Given the description of an element on the screen output the (x, y) to click on. 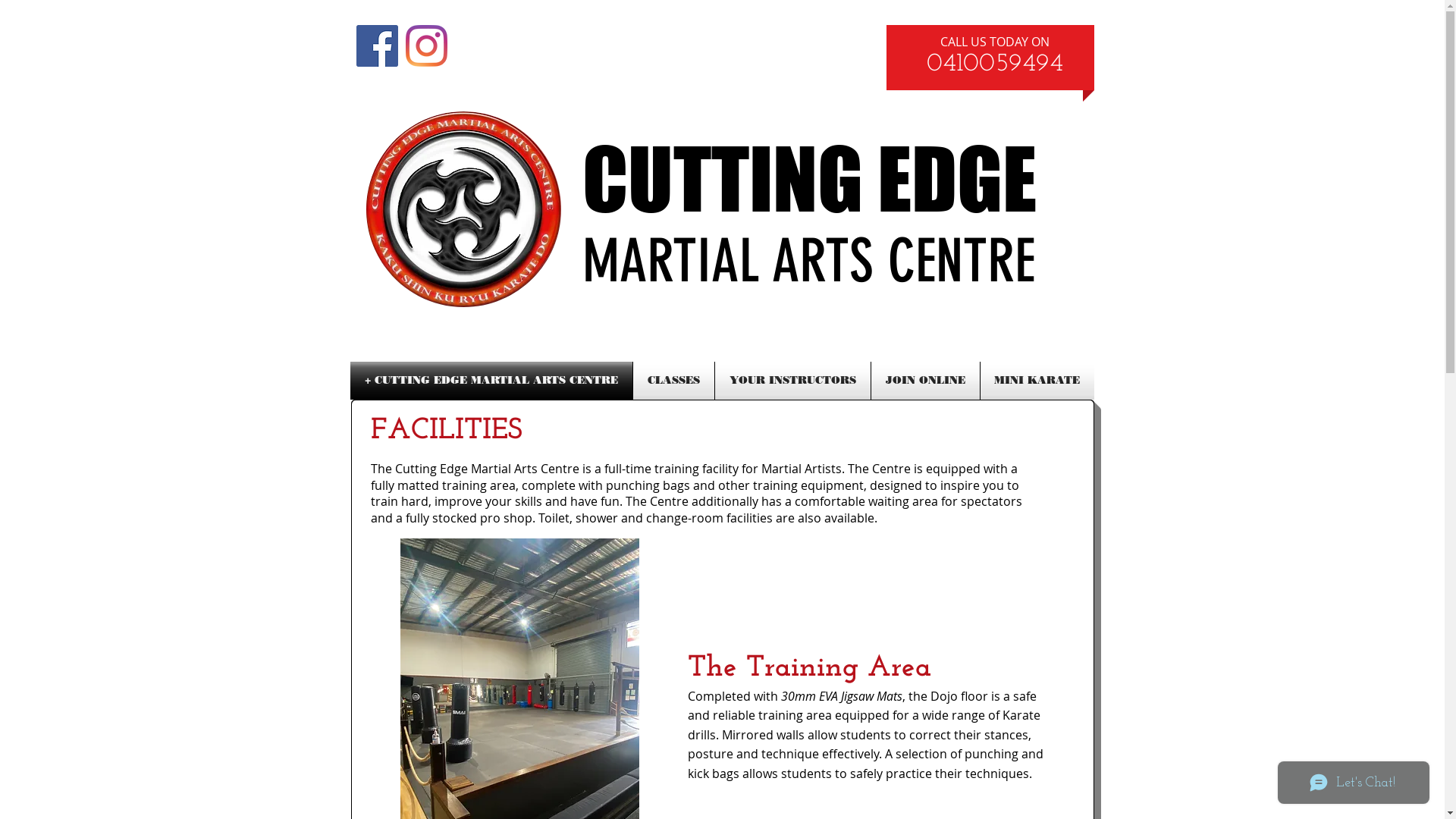
CLASSES Element type: text (672, 380)
+ CUTTING EDGE MARTIAL ARTS CENTRE Element type: text (491, 380)
YOUR INSTRUCTORS Element type: text (791, 380)
JOIN ONLINE Element type: text (924, 380)
